Given the description of an element on the screen output the (x, y) to click on. 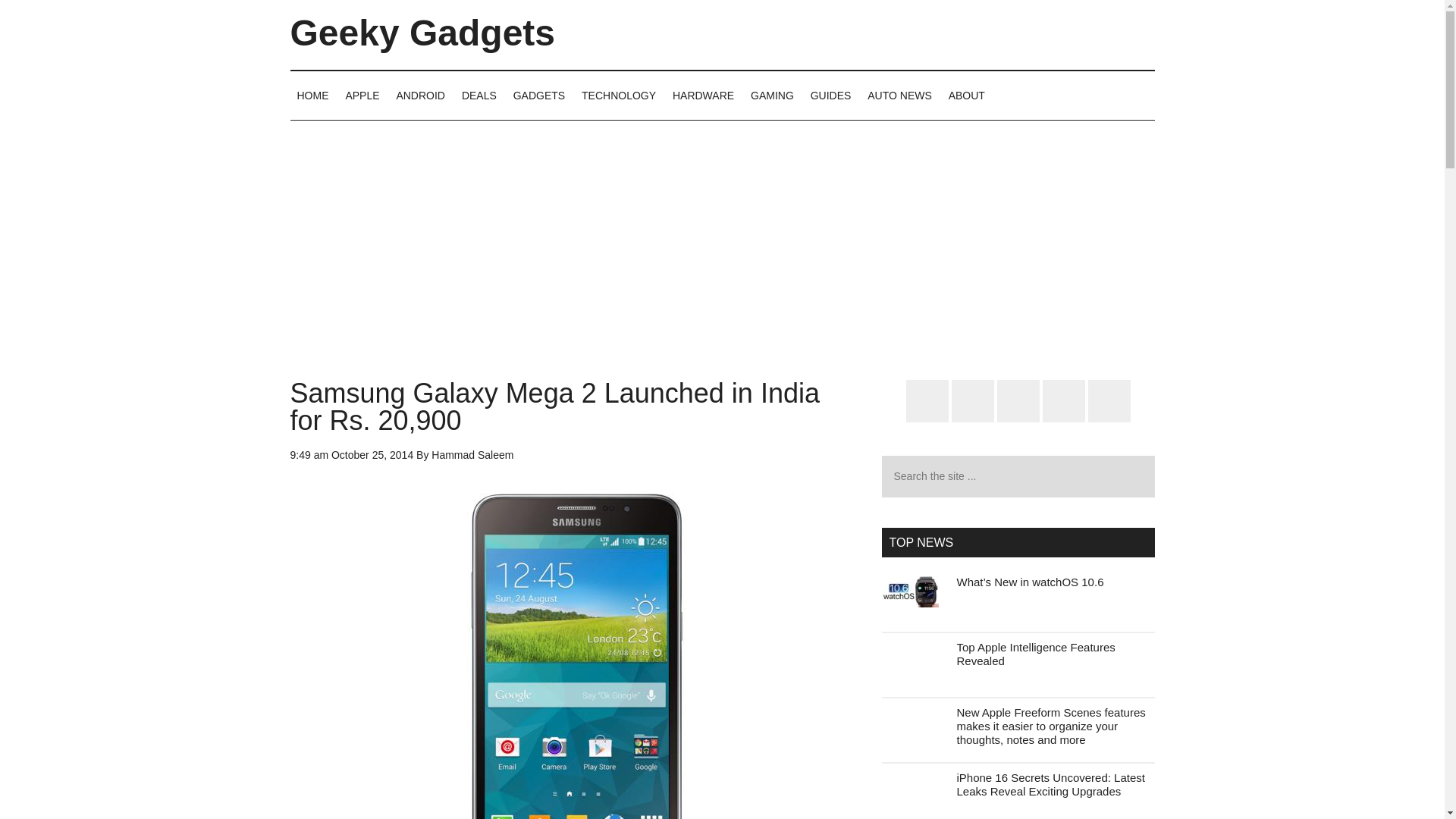
AUTO NEWS (899, 95)
TECHNOLOGY (618, 95)
GADGETS (539, 95)
APPLE (361, 95)
ANDROID (419, 95)
HOME (311, 95)
About Geeky Gadgets (966, 95)
Top Apple Intelligence Features Revealed (1035, 653)
